Given the description of an element on the screen output the (x, y) to click on. 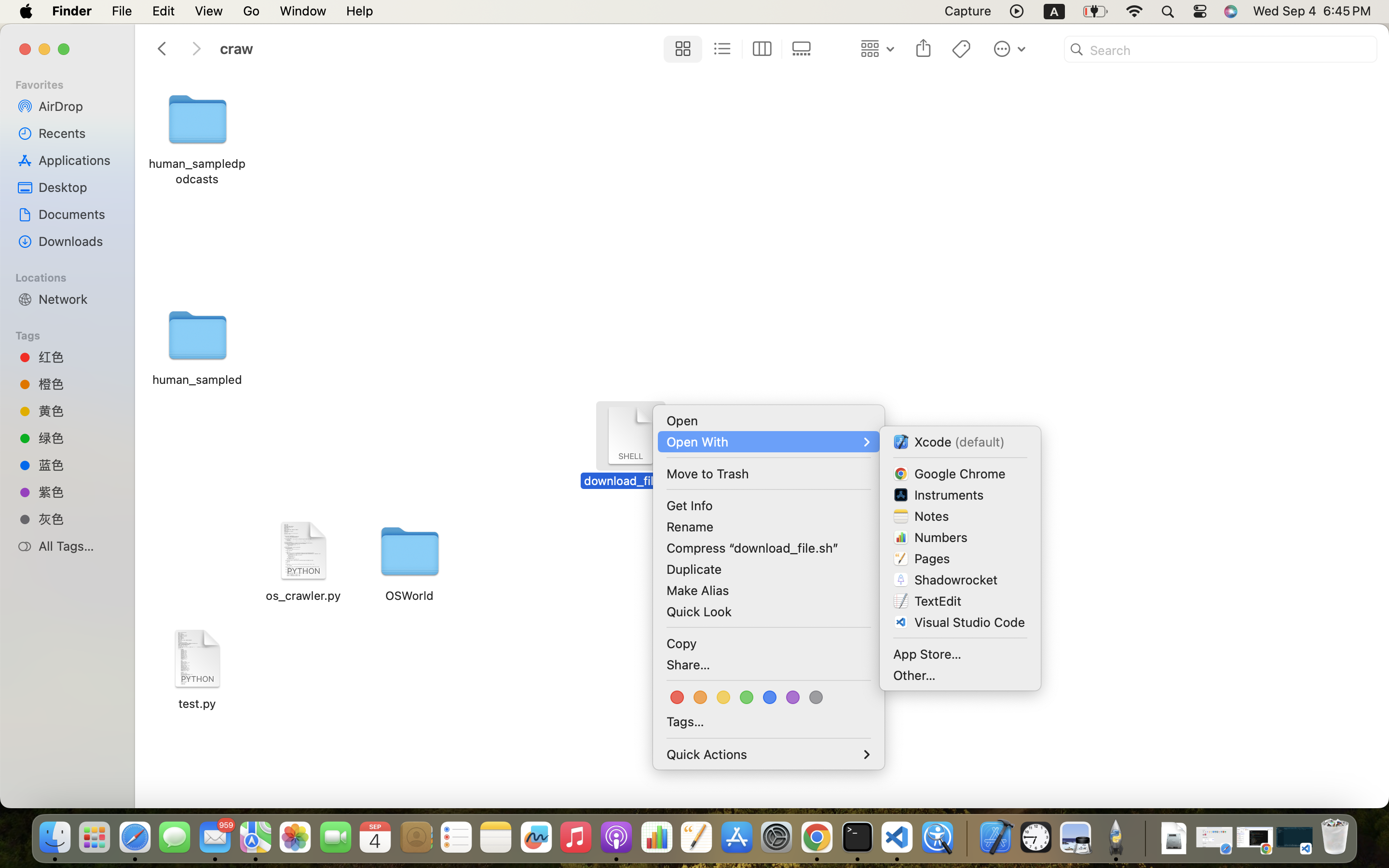
红色 Element type: AXStaticText (77, 356)
绿色 Element type: AXStaticText (77, 437)
0.4285714328289032 Element type: AXDockItem (965, 837)
Tags Element type: AXStaticText (72, 334)
AirDrop Element type: AXStaticText (77, 105)
